Given the description of an element on the screen output the (x, y) to click on. 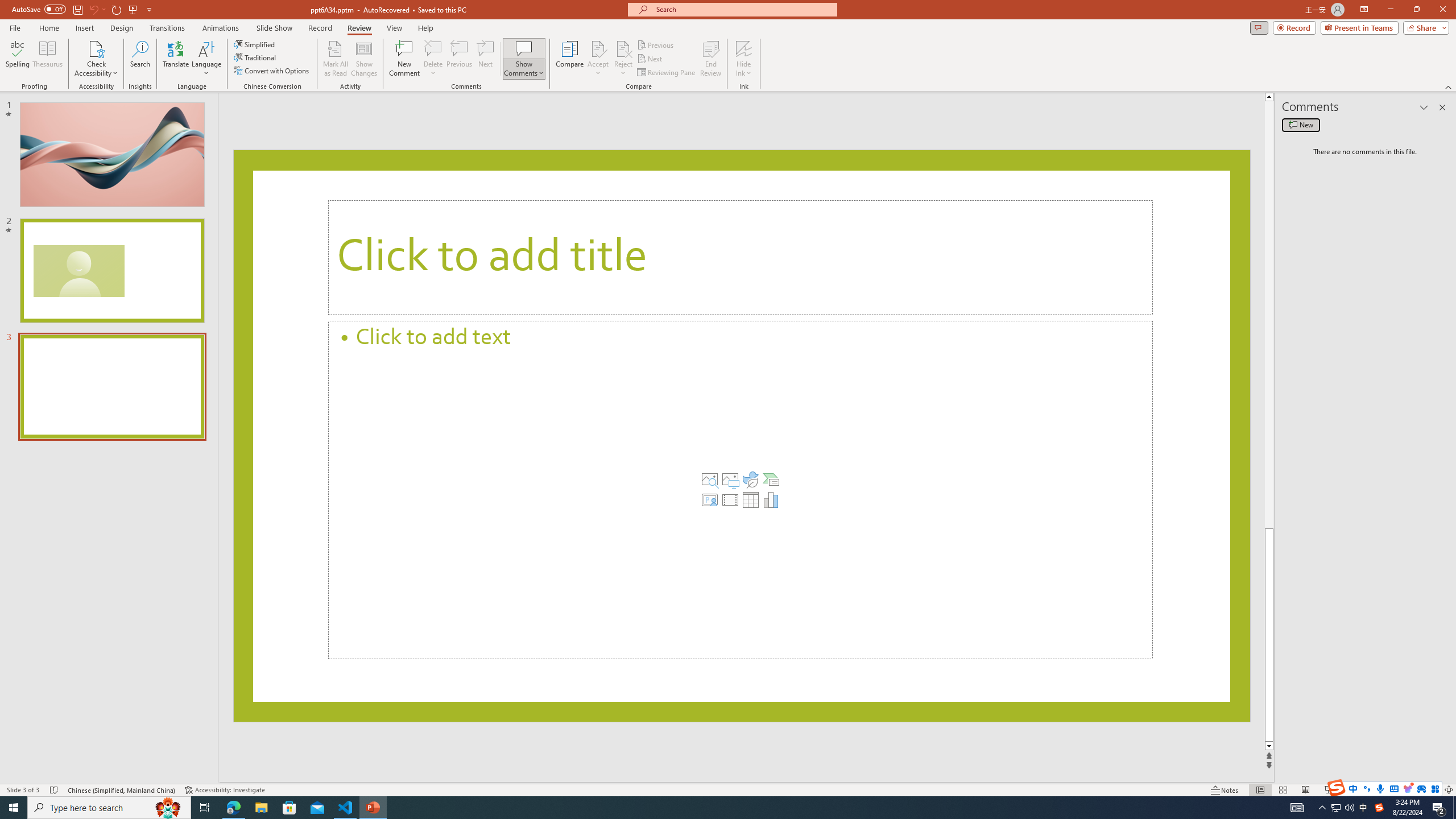
Search (140, 58)
End Review (710, 58)
Microsoft search (742, 9)
New comment (1300, 124)
Next (649, 58)
Translate (175, 58)
Show Comments (524, 58)
Delete (432, 48)
Previous (655, 44)
